Given the description of an element on the screen output the (x, y) to click on. 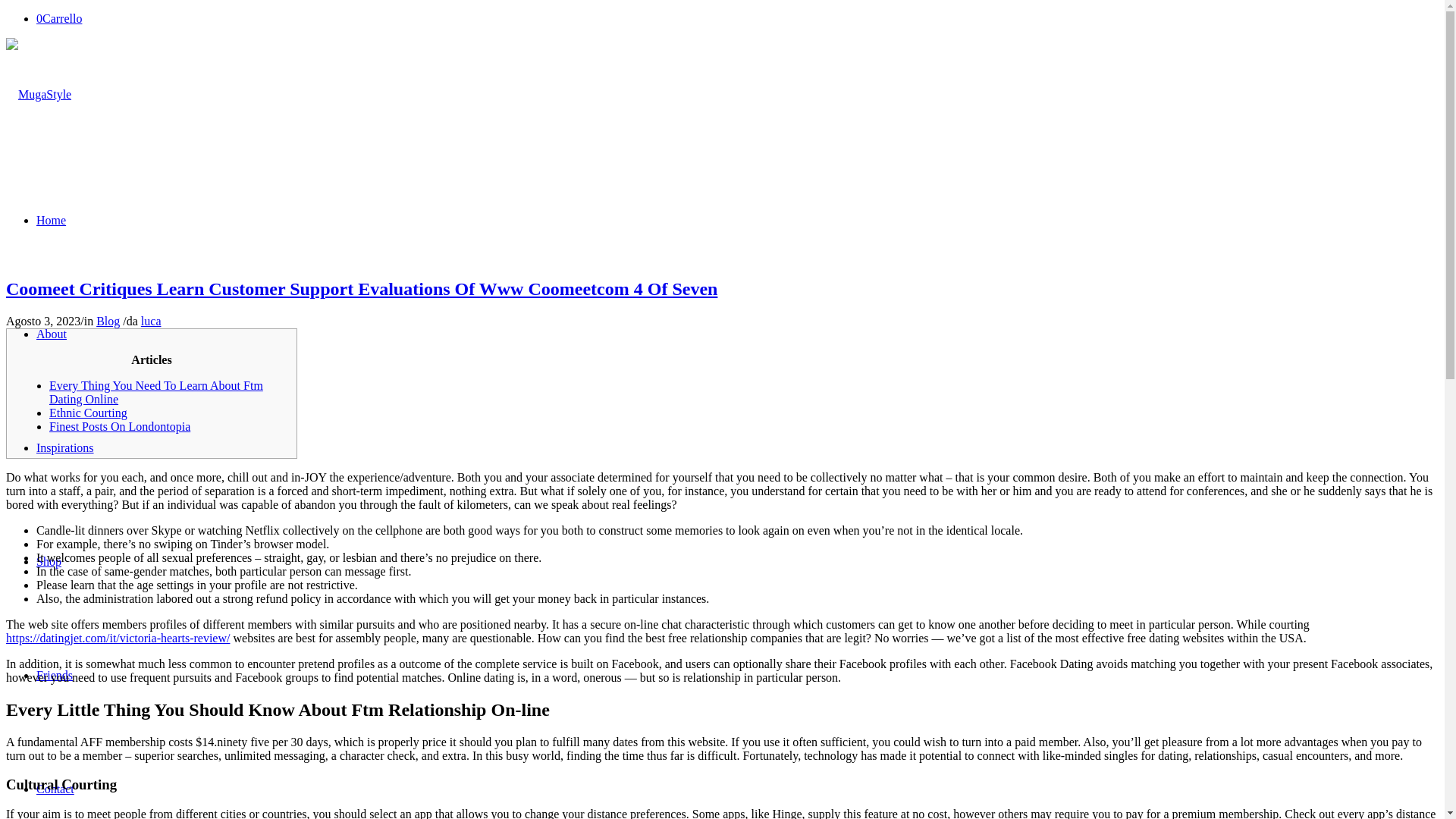
0Carrello (58, 18)
Ethnic Courting (88, 412)
Shop (48, 561)
luca (151, 320)
Contact (55, 788)
Home (50, 219)
Articoli scritti da luca (151, 320)
Friends (54, 675)
Every Thing You Need To Learn About Ftm Dating Online (156, 392)
Finest Posts On Londontopia (119, 426)
Inspirations (65, 447)
Blog (107, 320)
About (51, 333)
